Given the description of an element on the screen output the (x, y) to click on. 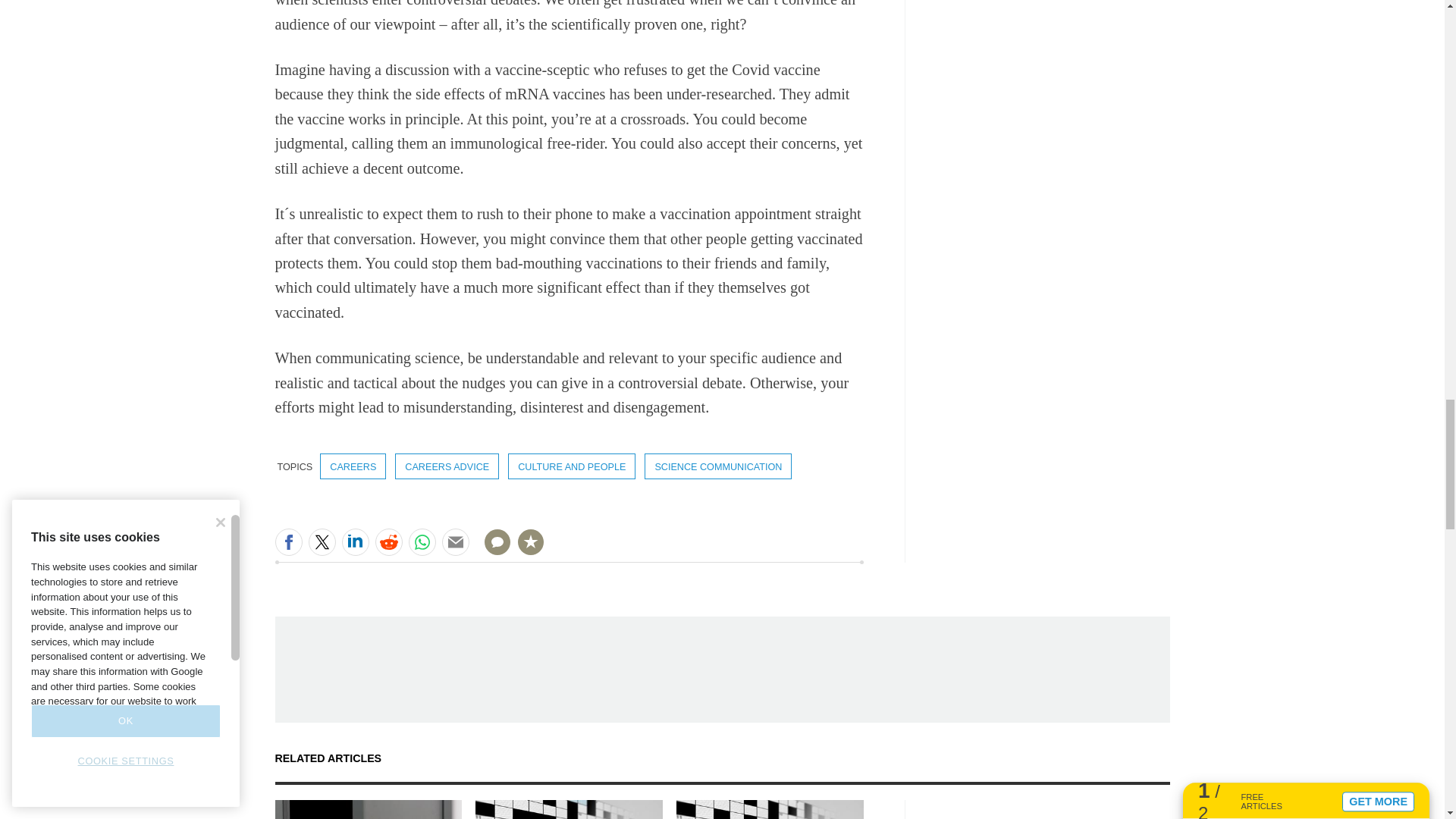
NO COMMENTS (492, 550)
Share this by email (454, 542)
Share this on Reddit (387, 542)
Share this on LinkedIn (354, 542)
Share this on WhatsApp (421, 542)
Share this on Facebook (288, 542)
